Given the description of an element on the screen output the (x, y) to click on. 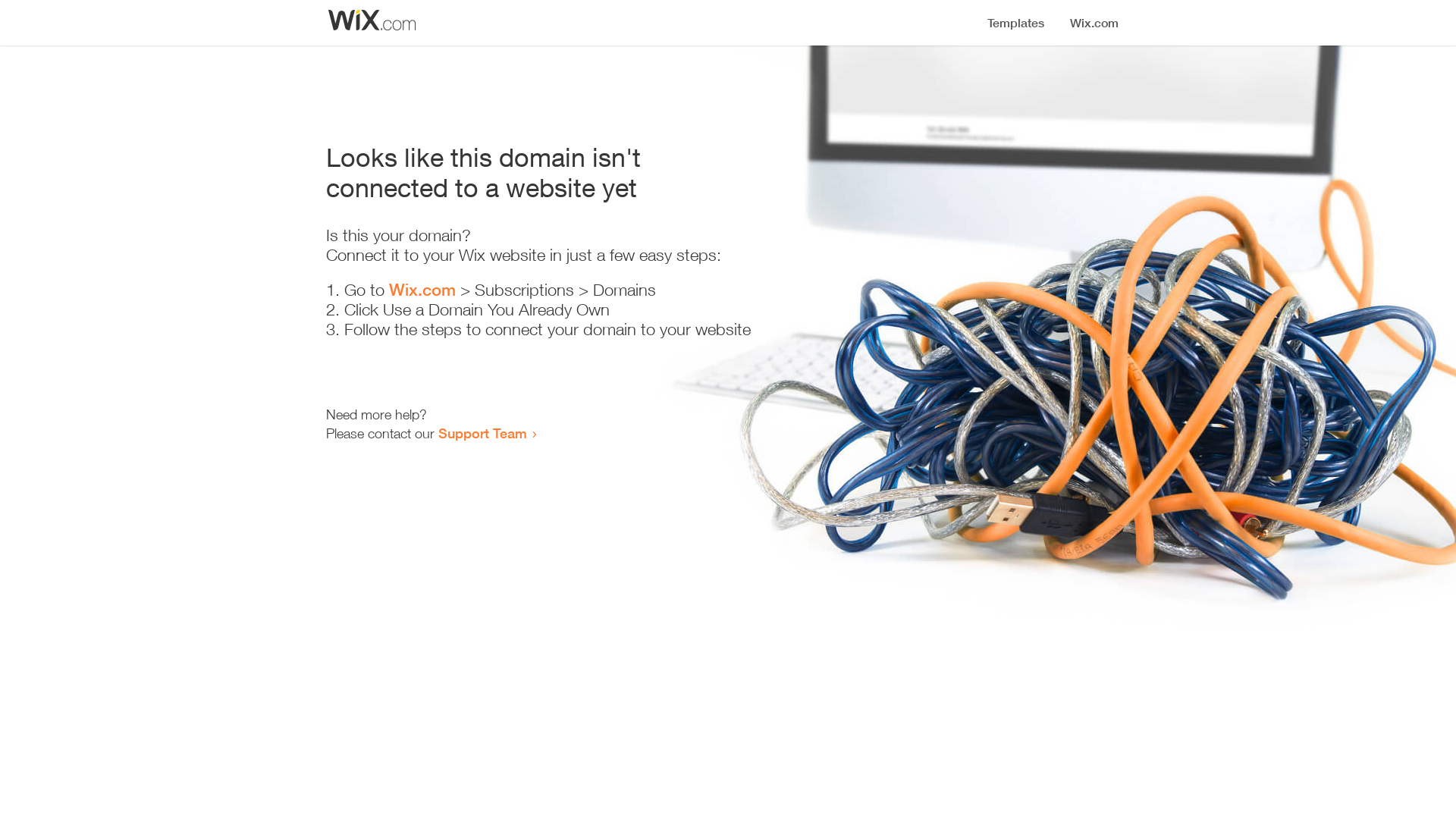
Support Team Element type: text (482, 432)
Wix.com Element type: text (422, 289)
